Given the description of an element on the screen output the (x, y) to click on. 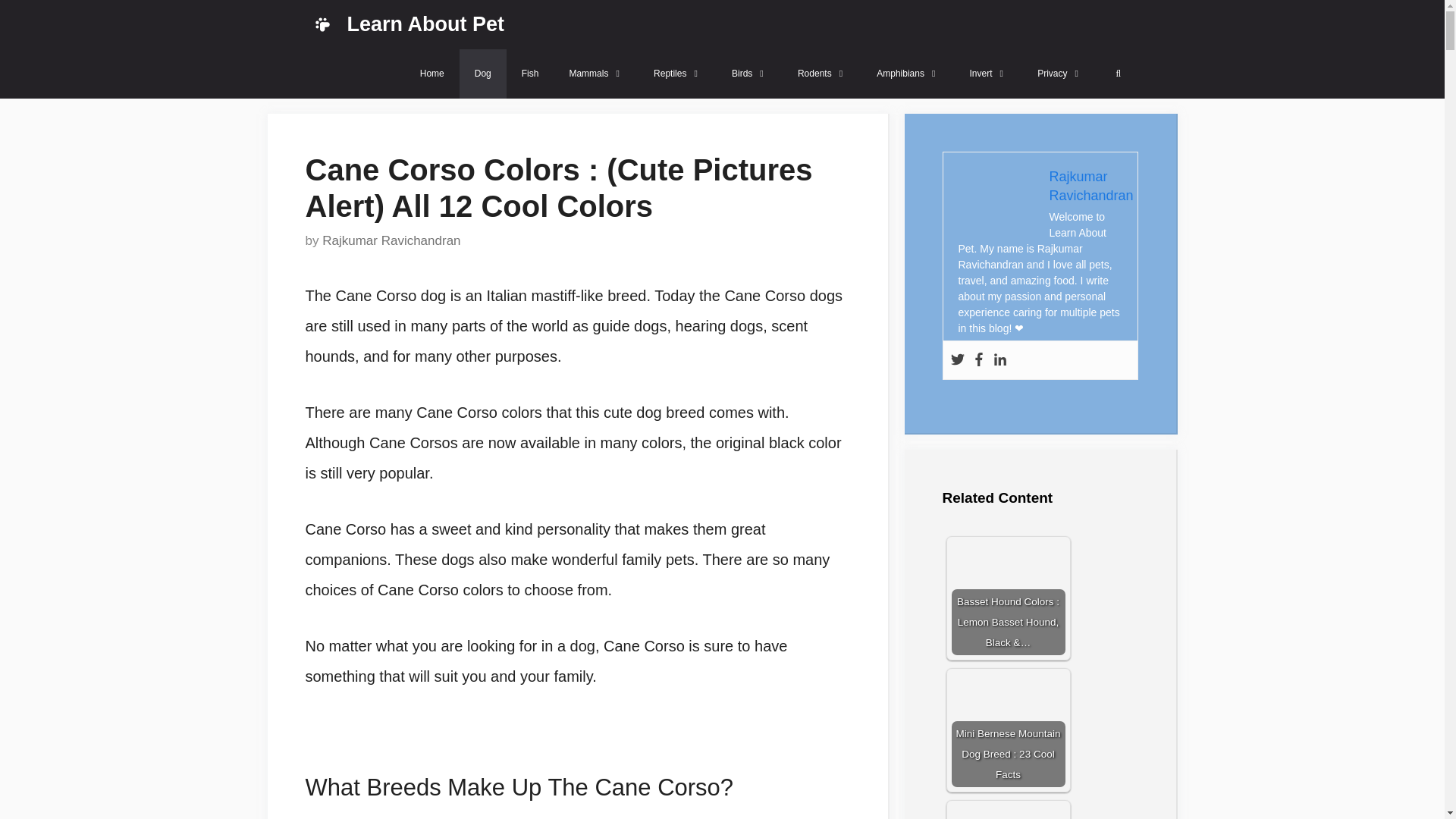
Fish (530, 73)
Mammals (596, 73)
Reptiles (677, 73)
Rodents (822, 73)
Home (432, 73)
Dog (483, 73)
Birds (749, 73)
Learn About Pet (426, 24)
View all posts by Rajkumar Ravichandran (390, 240)
